Given the description of an element on the screen output the (x, y) to click on. 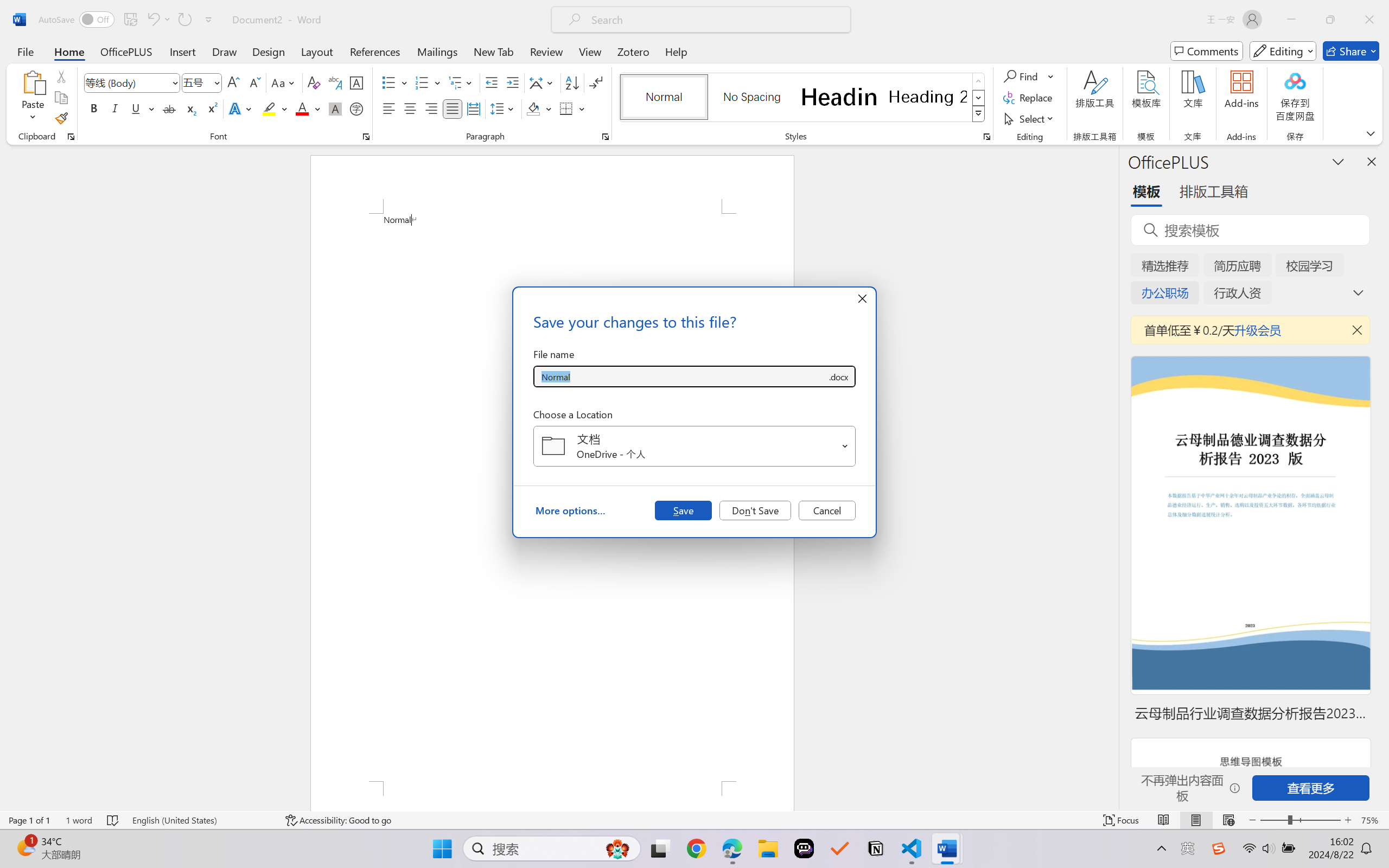
Cut (60, 75)
Heading 1 (839, 96)
Print Layout (1196, 819)
Focus  (1121, 819)
Don't Save (755, 509)
Close (1369, 19)
Draw (224, 51)
Font Color Red (302, 108)
Asian Layout (542, 82)
AutomationID: DynamicSearchBoxGleamImage (617, 848)
Office Clipboard... (70, 136)
Italic (115, 108)
Font Size (196, 82)
